Given the description of an element on the screen output the (x, y) to click on. 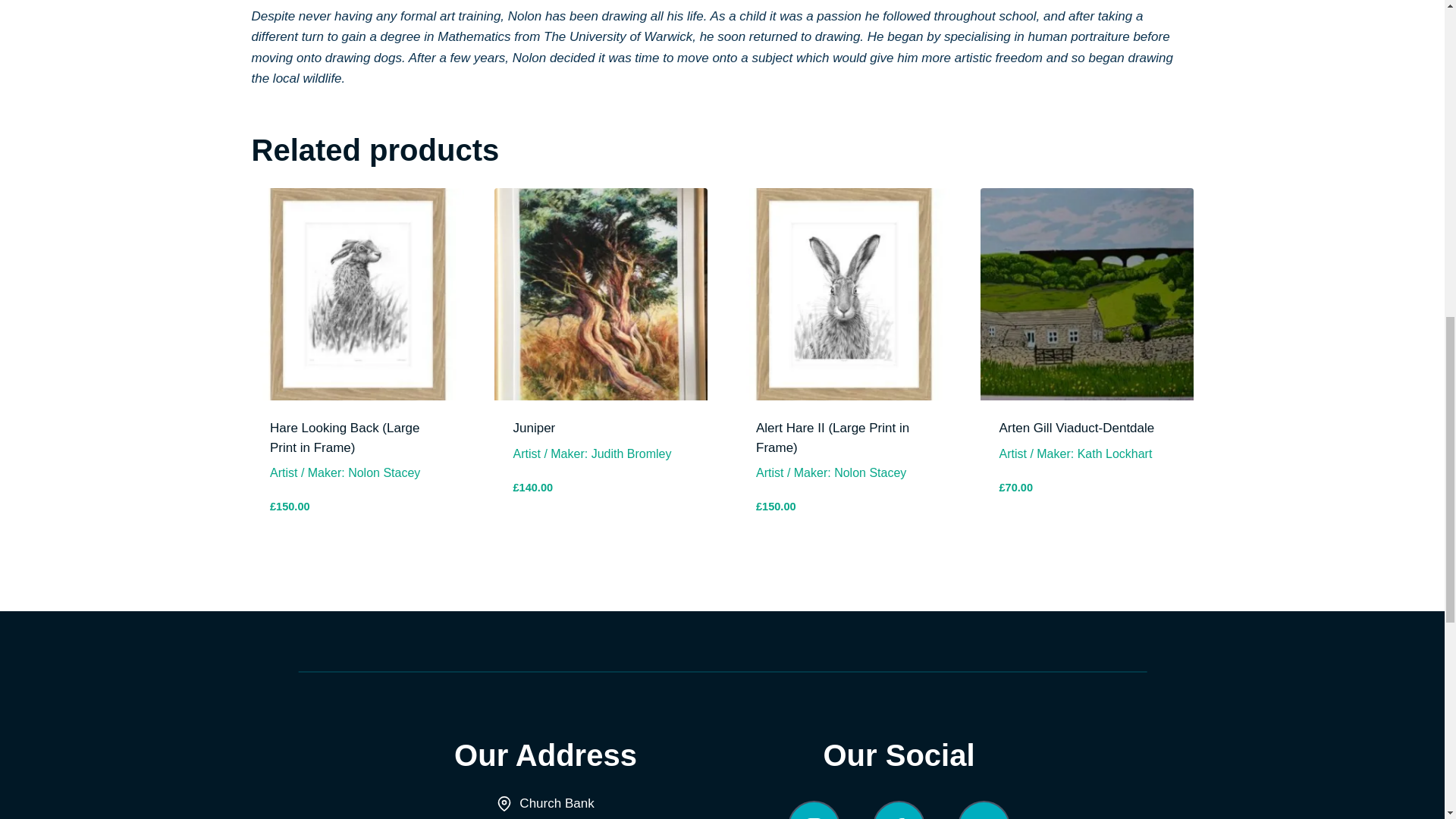
Nolon Stacey (869, 472)
Judith Bromley (631, 453)
Nolon Stacey (383, 472)
Juniper (533, 427)
